Given the description of an element on the screen output the (x, y) to click on. 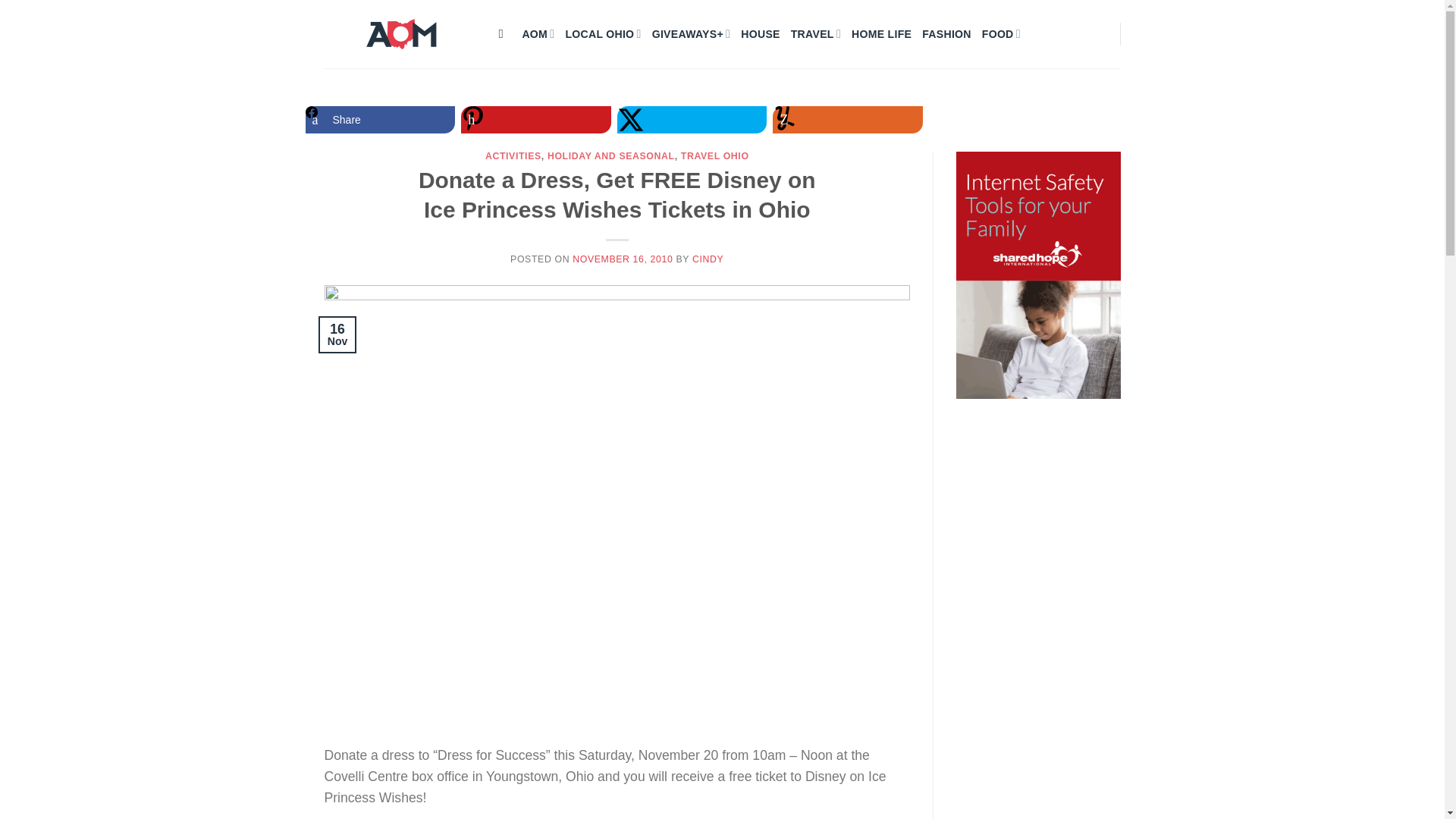
Share on Share (379, 119)
TRAVEL (815, 34)
AOM (537, 34)
LOCAL OHIO (602, 34)
Akron Ohio Moms - Influential Moms in Ohio (400, 33)
Share on - (848, 119)
HOUSE (759, 34)
Share on - (692, 119)
Share on - (536, 119)
